Given the description of an element on the screen output the (x, y) to click on. 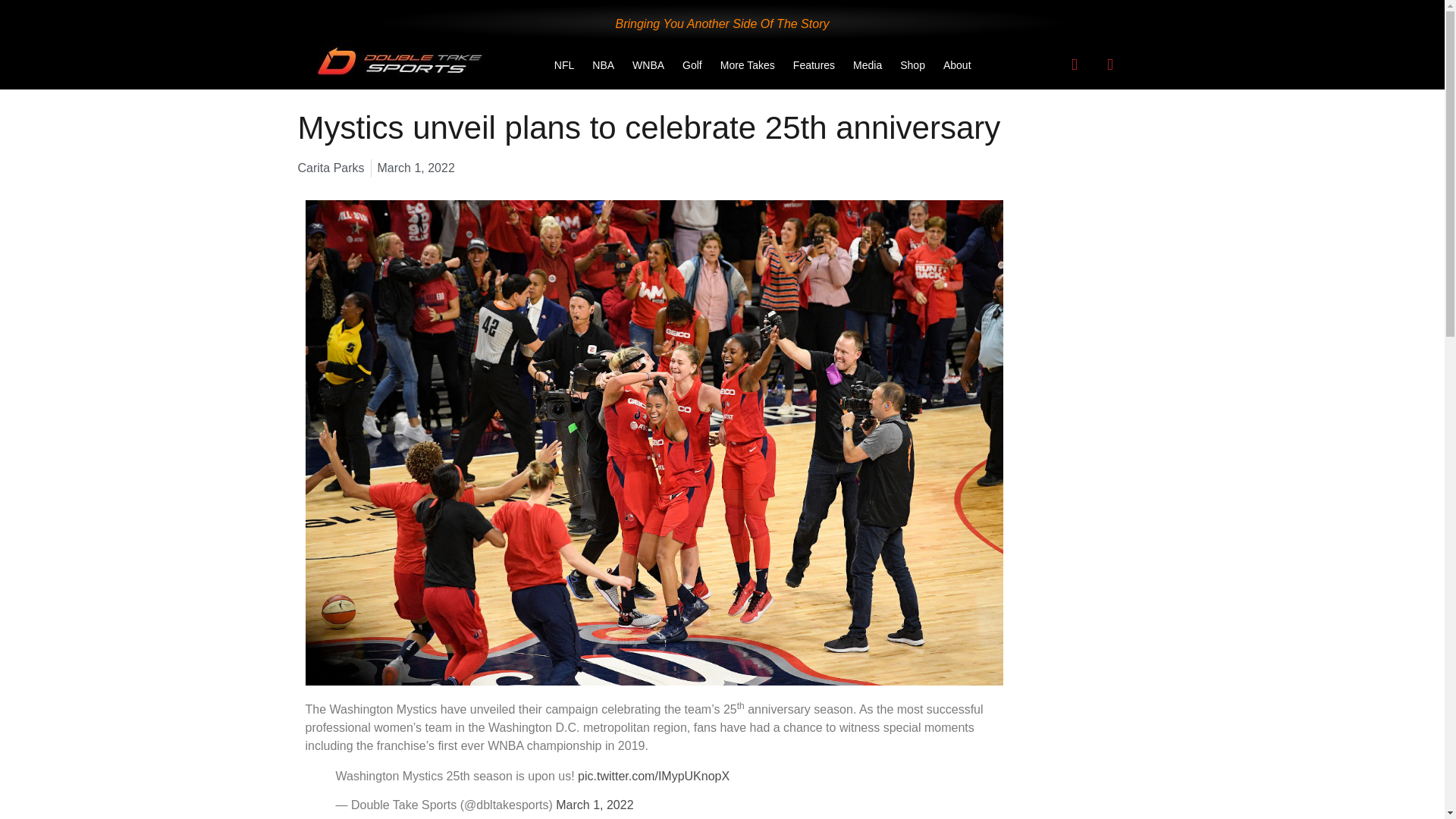
Features (814, 64)
March 1, 2022 (415, 167)
NFL (563, 64)
WNBA (647, 64)
March 1, 2022 (594, 804)
Shop (912, 64)
Media (867, 64)
More Takes (747, 64)
About (956, 64)
NBA (603, 64)
Golf (691, 64)
